Given the description of an element on the screen output the (x, y) to click on. 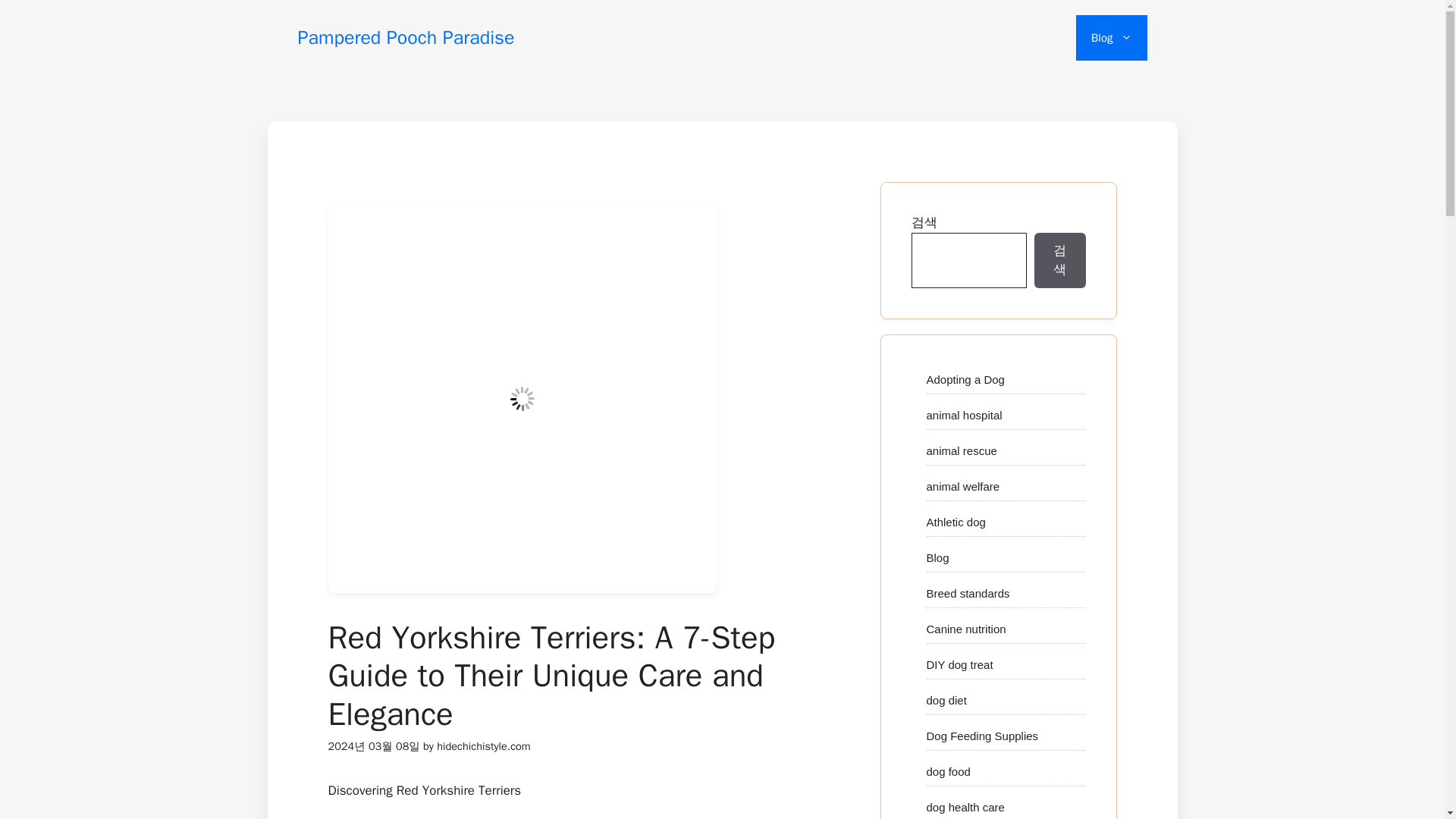
DIY dog treat (959, 664)
animal hospital (964, 413)
Blog (1111, 37)
dog health care (965, 807)
Athletic dog (955, 521)
dog food (948, 770)
View all posts by hidechichistyle.com (482, 745)
Breed standards (968, 593)
animal welfare (963, 485)
animal rescue (961, 450)
Dog Feeding Supplies (982, 735)
Adopting a Dog (965, 379)
Blog (937, 556)
dog diet (946, 698)
Canine nutrition (966, 627)
